Given the description of an element on the screen output the (x, y) to click on. 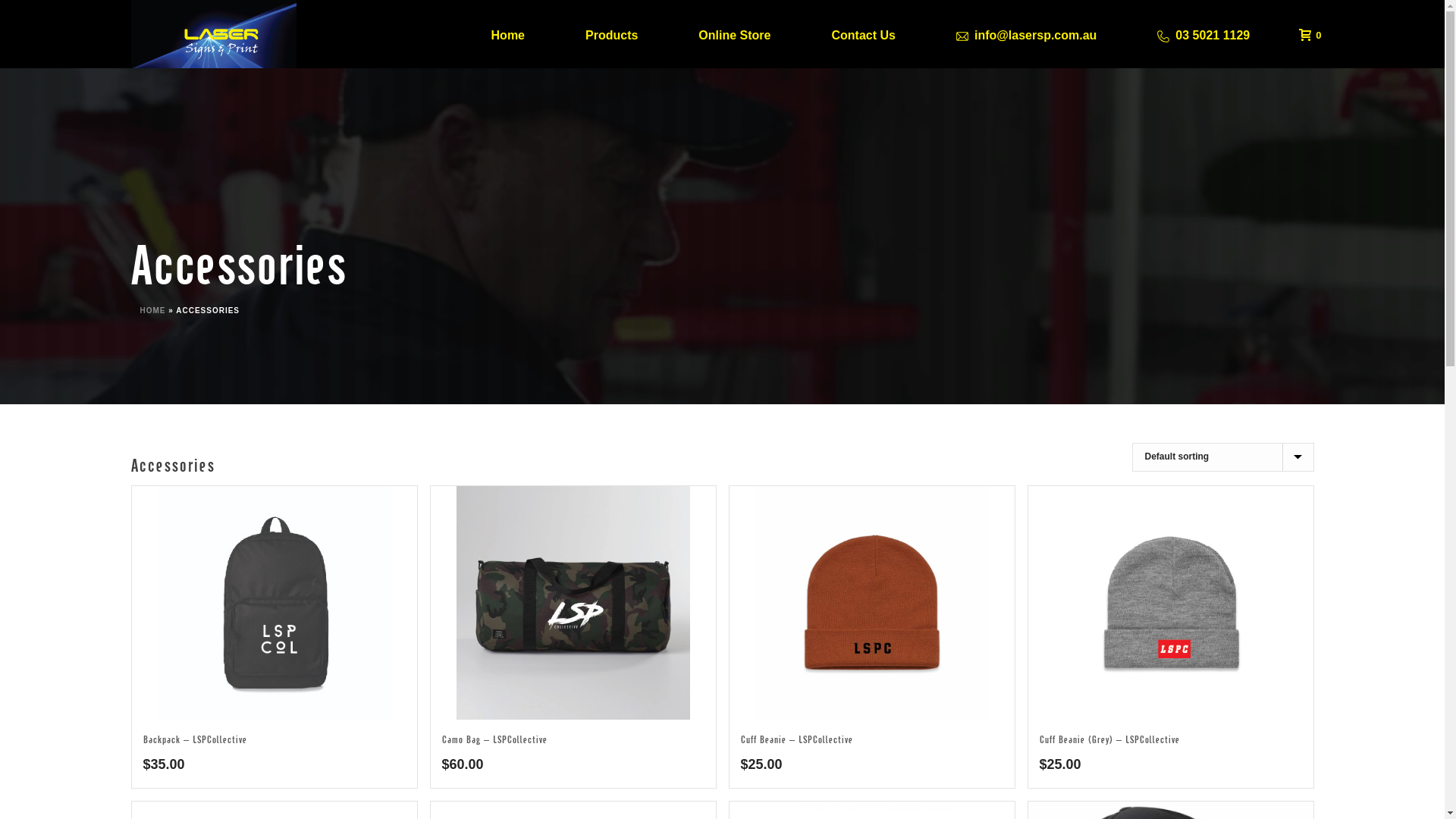
Online Store Element type: text (734, 34)
Contact Us Element type: text (862, 34)
info@lasersp.com.au Element type: text (1025, 34)
Products Element type: text (611, 34)
03 5021 1129 Element type: text (1203, 34)
HOME Element type: text (152, 310)
0 Element type: text (1305, 33)
Home Element type: text (508, 34)
